Given the description of an element on the screen output the (x, y) to click on. 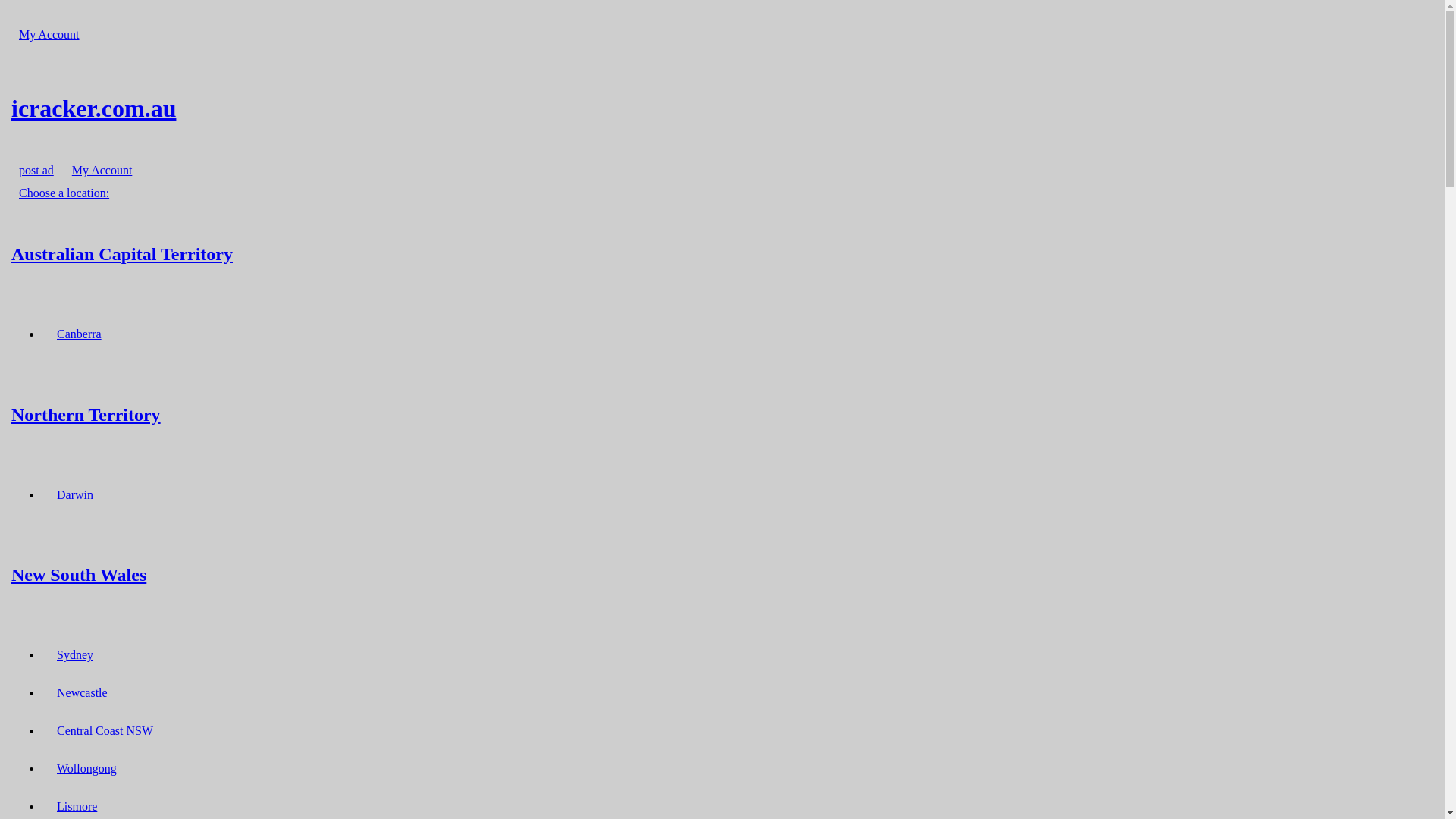
icracker.com.au Element type: text (722, 108)
Newcastle Element type: text (82, 692)
My Account Element type: text (102, 170)
New South Wales Element type: text (722, 575)
Central Coast NSW Element type: text (104, 730)
Northern Territory Element type: text (722, 414)
Wollongong Element type: text (86, 768)
post ad Element type: text (36, 170)
My Account Element type: text (49, 34)
Canberra Element type: text (79, 334)
Darwin Element type: text (74, 494)
Australian Capital Territory Element type: text (722, 253)
Choose a location: Element type: text (63, 192)
Sydney Element type: text (74, 654)
